Given the description of an element on the screen output the (x, y) to click on. 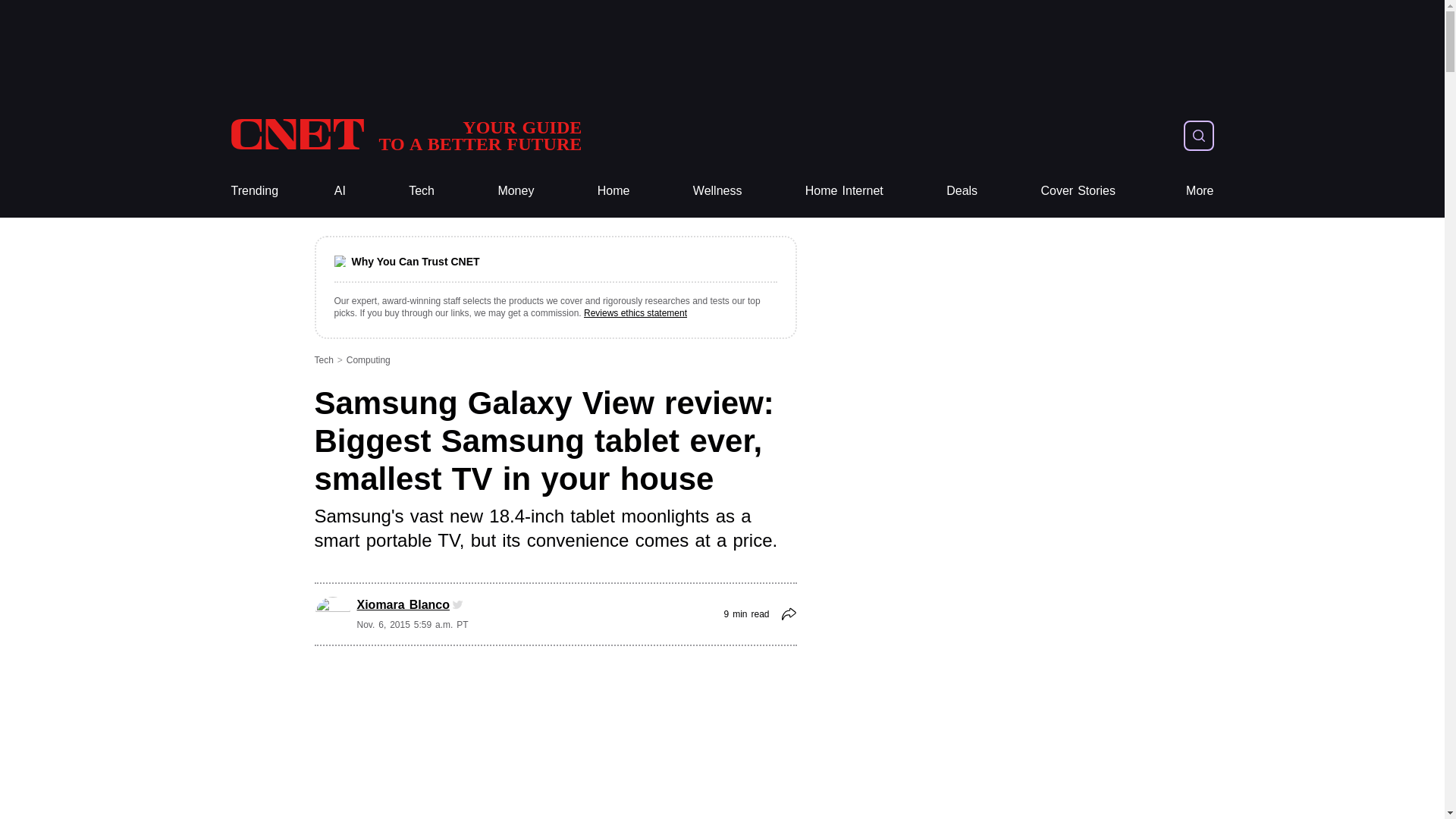
Wellness (717, 190)
More (1199, 190)
Trending (254, 190)
Wellness (717, 190)
Cover Stories (1078, 190)
Money (515, 190)
Money (515, 190)
Tech (421, 190)
Home Internet (844, 190)
Home (613, 190)
